Given the description of an element on the screen output the (x, y) to click on. 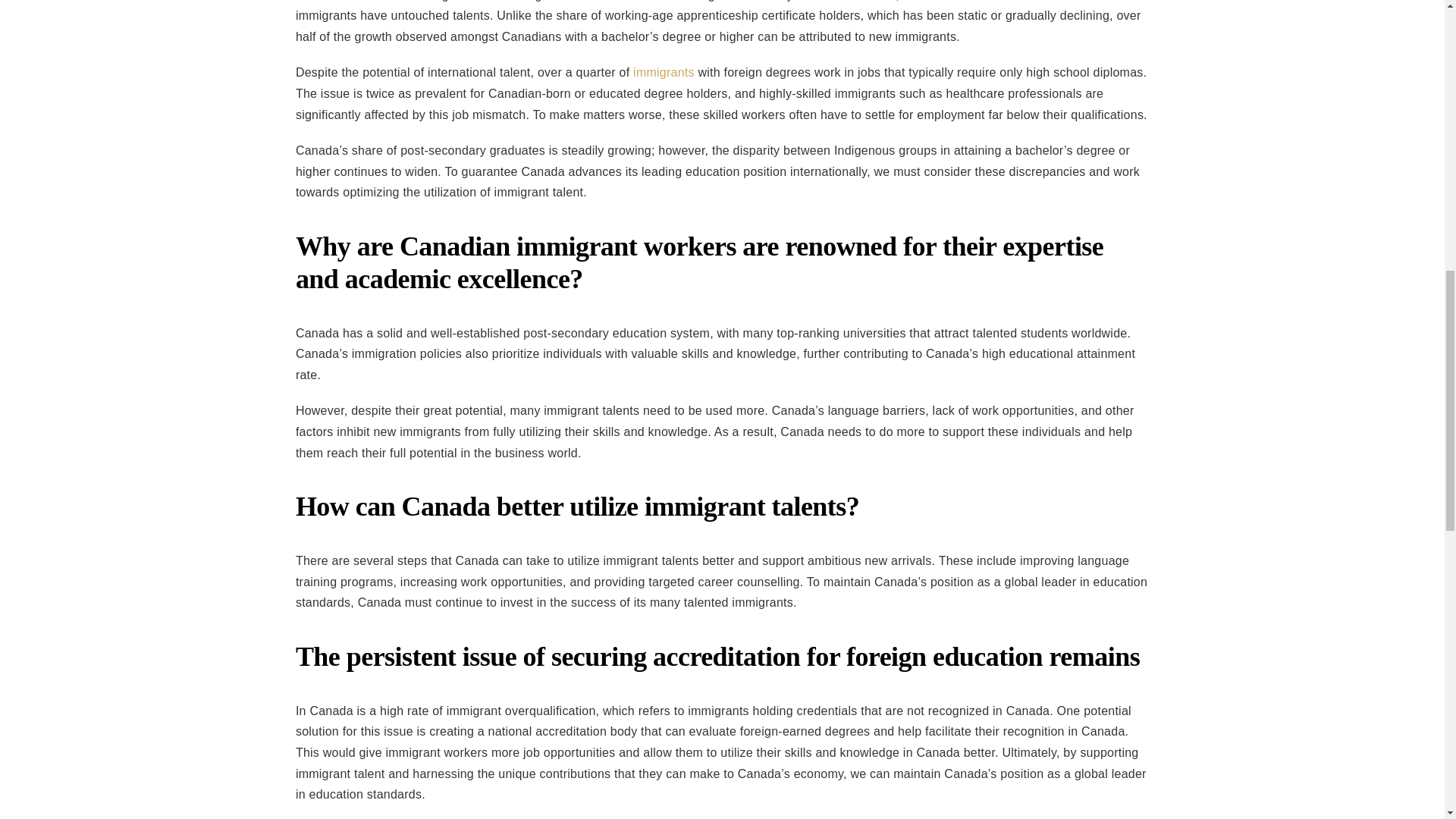
immigrants (663, 72)
